Given the description of an element on the screen output the (x, y) to click on. 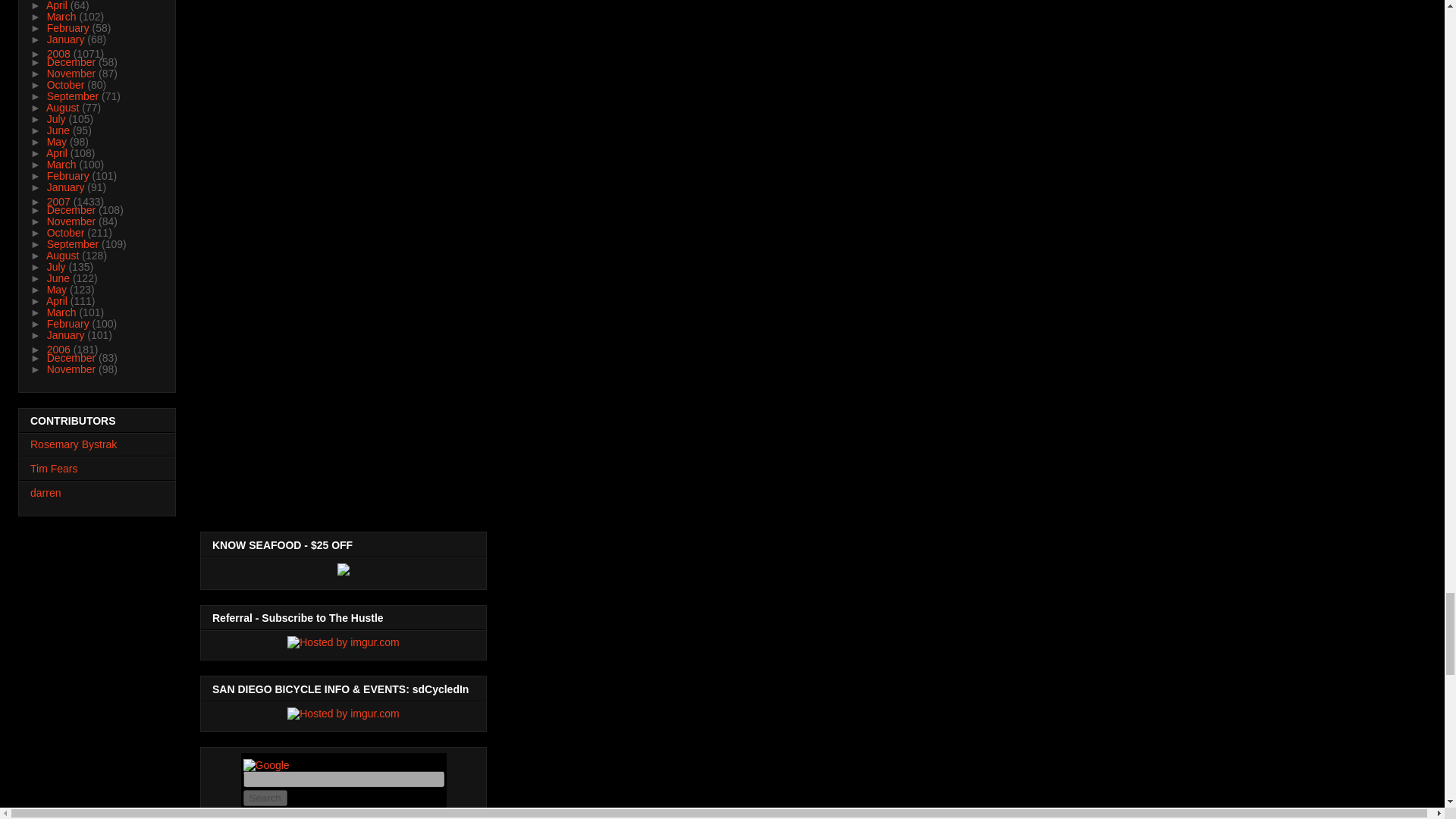
Search (264, 797)
Hosted by imgur.com (342, 642)
Hosted by imgur.com (342, 713)
